Given the description of an element on the screen output the (x, y) to click on. 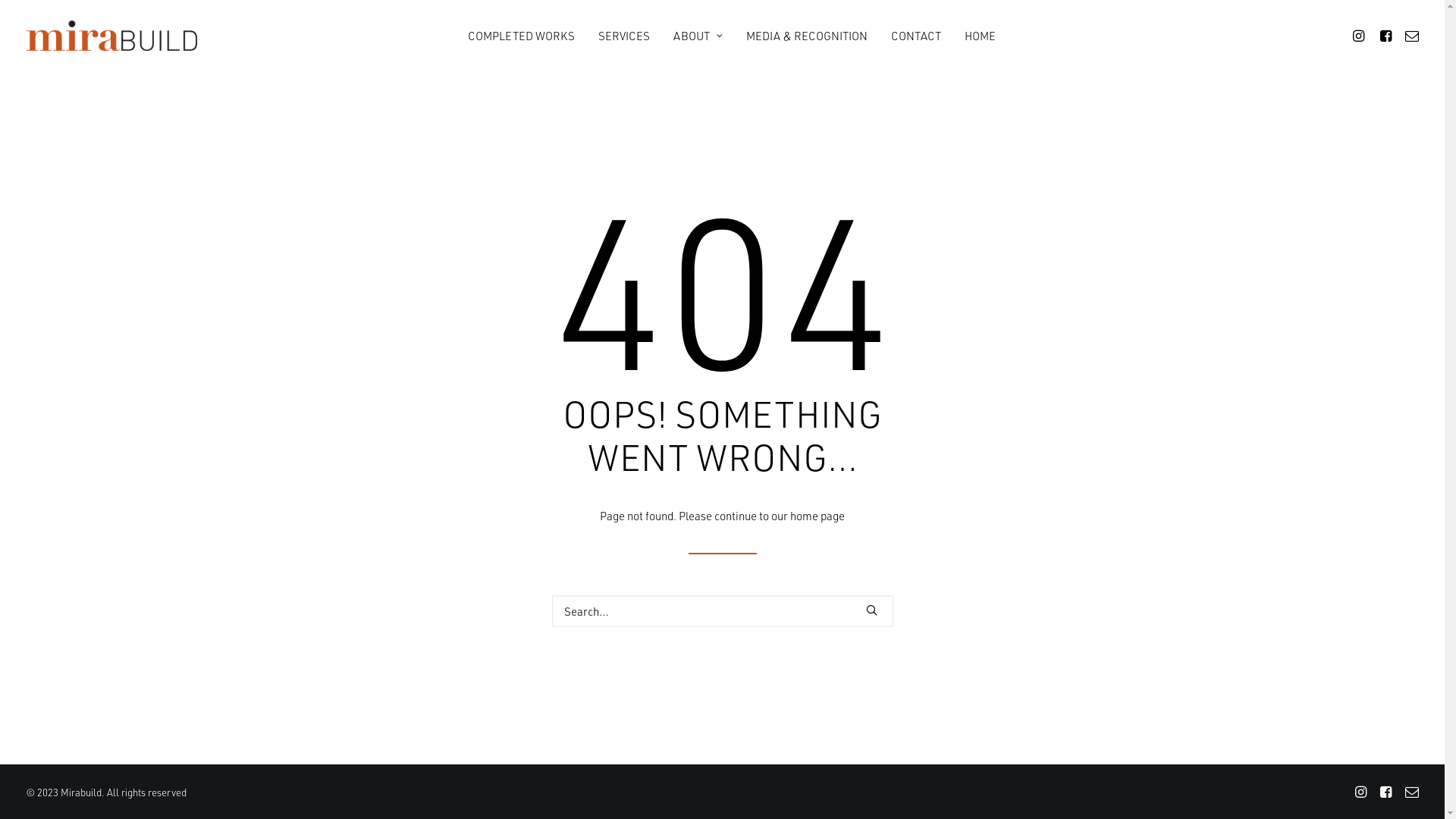
CONTACT Element type: text (915, 35)
ABOUT Element type: text (697, 35)
home page Element type: text (817, 515)
COMPLETED WORKS Element type: text (521, 35)
HOME Element type: text (979, 35)
SERVICES Element type: text (623, 35)
Search for: Element type: hover (722, 611)
MEDIA & RECOGNITION Element type: text (806, 35)
